Given the description of an element on the screen output the (x, y) to click on. 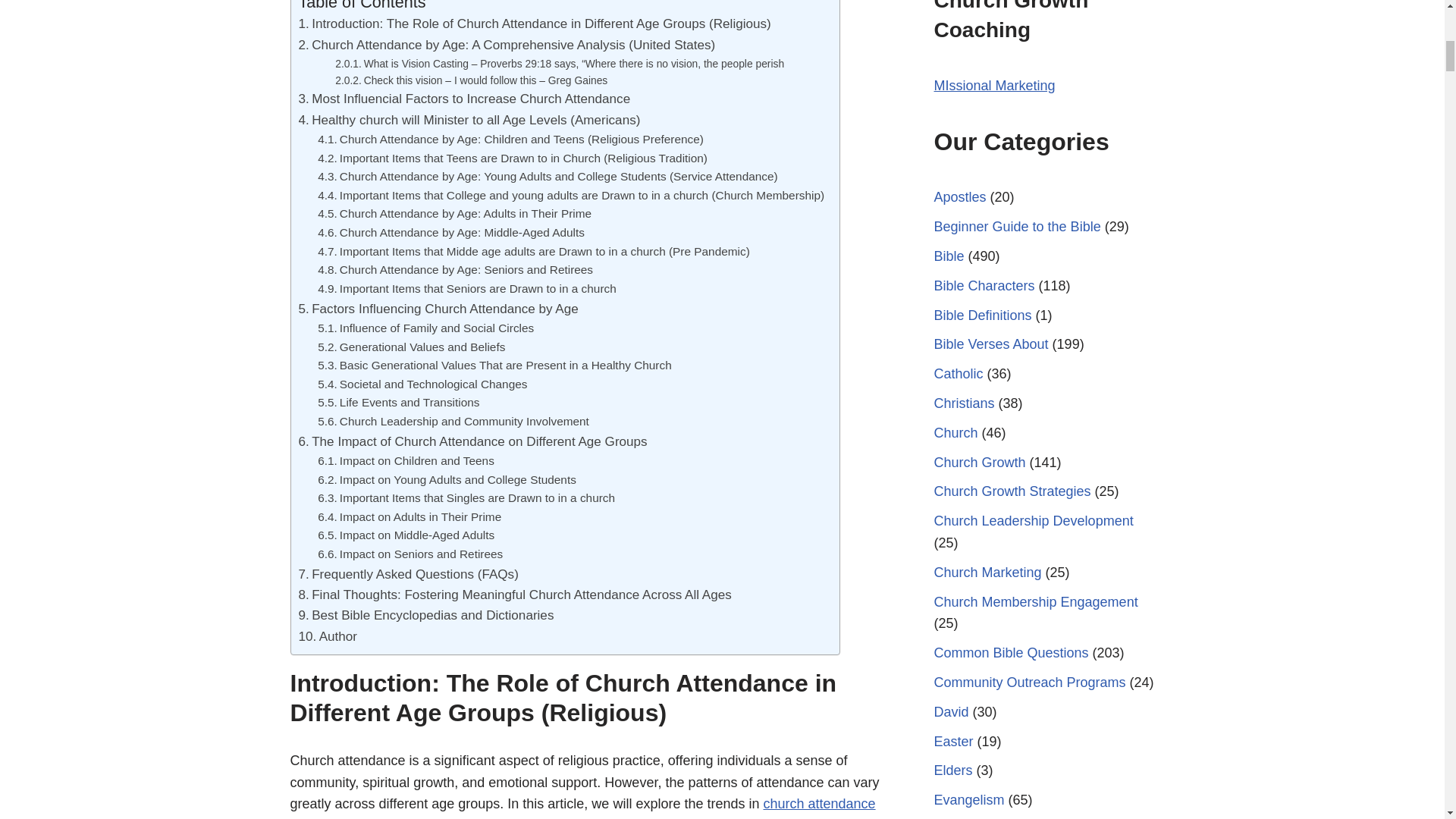
Factors Influencing Church Attendance by Age (438, 326)
Church Attendance by Age: Seniors and Retirees (454, 287)
Most Influencial Factors to Increase Church Attendance (464, 116)
Church Attendance by Age: Adults in Their Prime (454, 230)
Church Attendance by Age: Middle-Aged Adults (451, 250)
Important Items that Seniors are Drawn to in a church (466, 306)
